Given the description of an element on the screen output the (x, y) to click on. 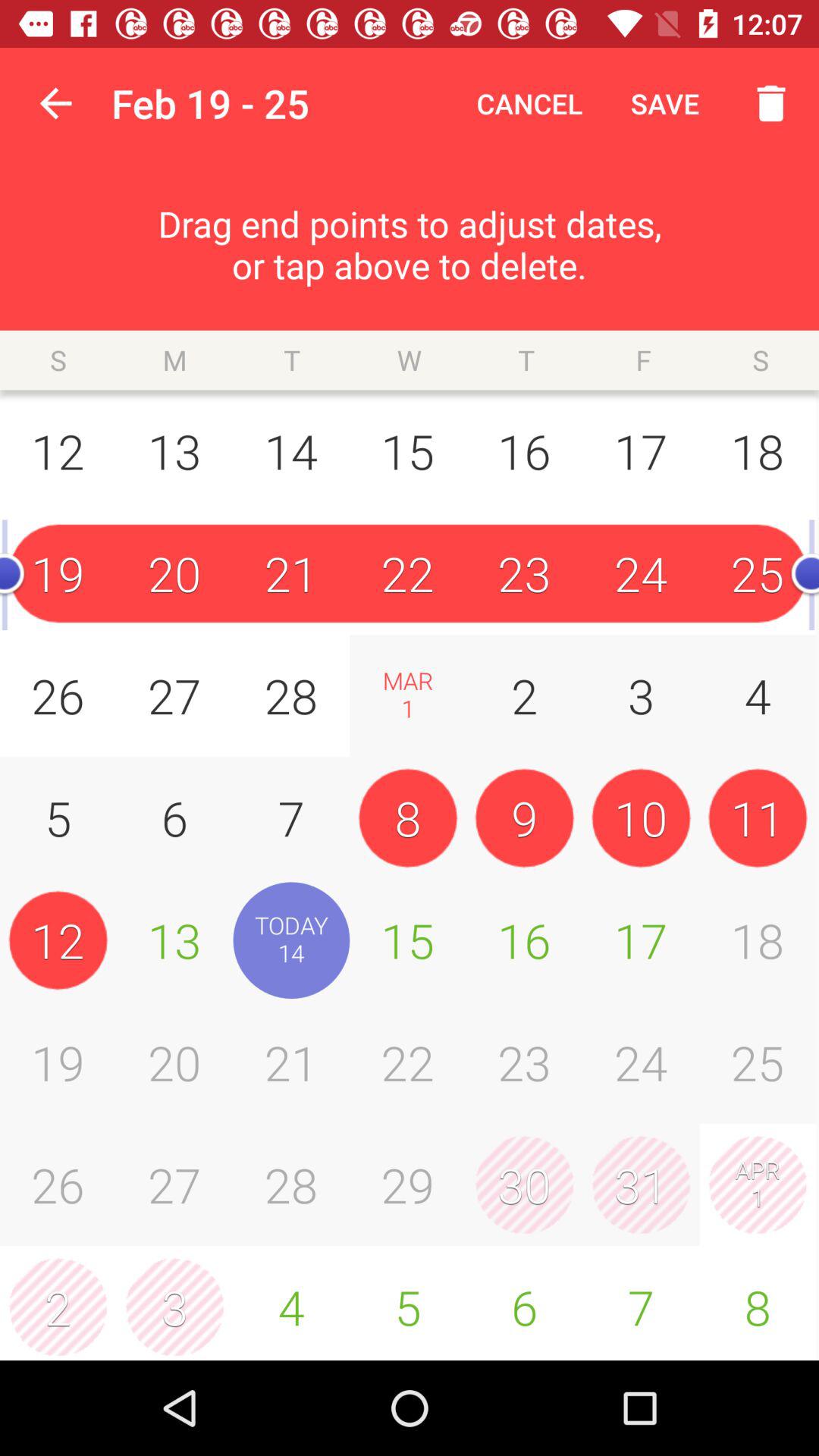
delete (763, 103)
